Given the description of an element on the screen output the (x, y) to click on. 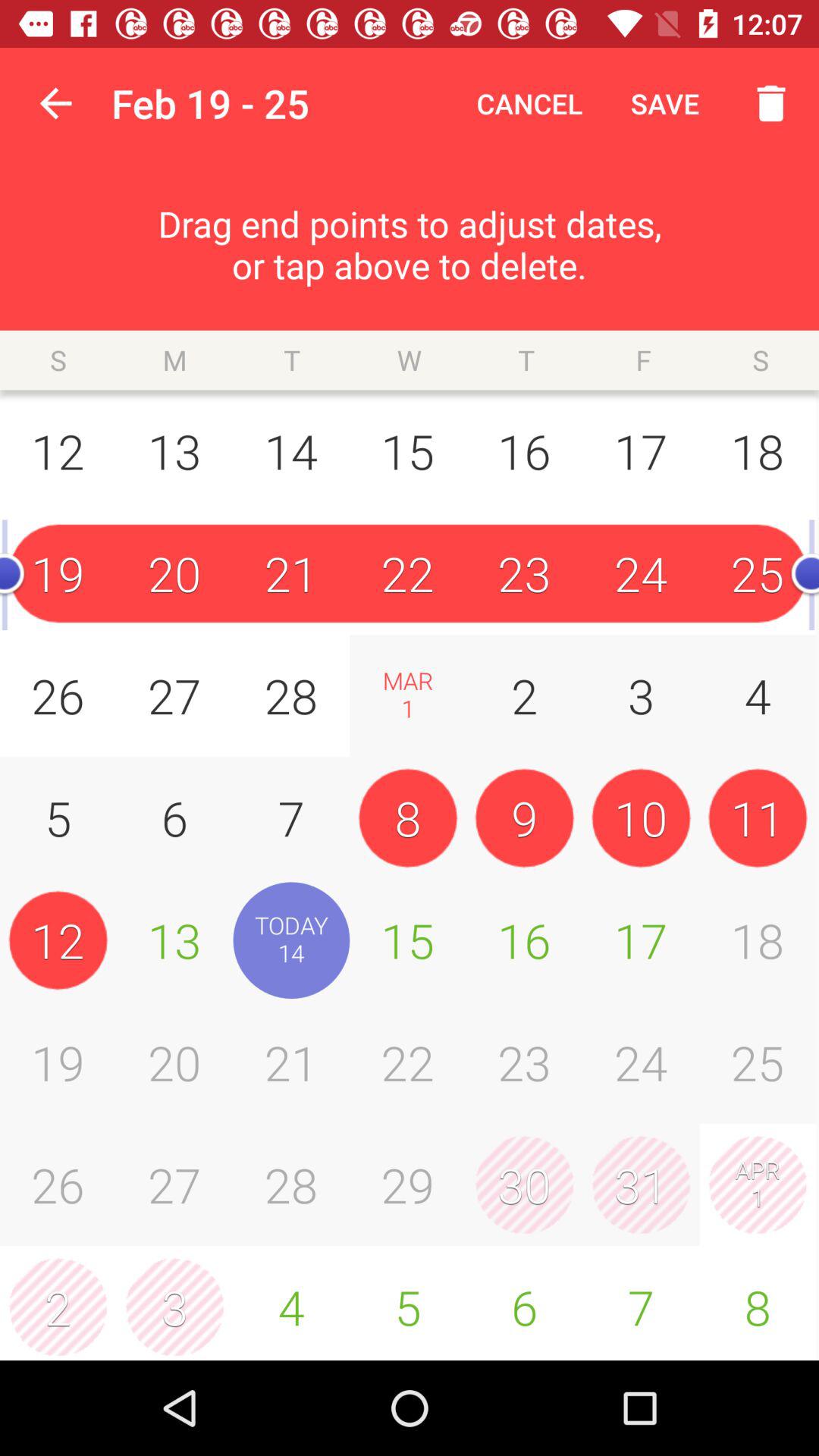
delete (763, 103)
